Given the description of an element on the screen output the (x, y) to click on. 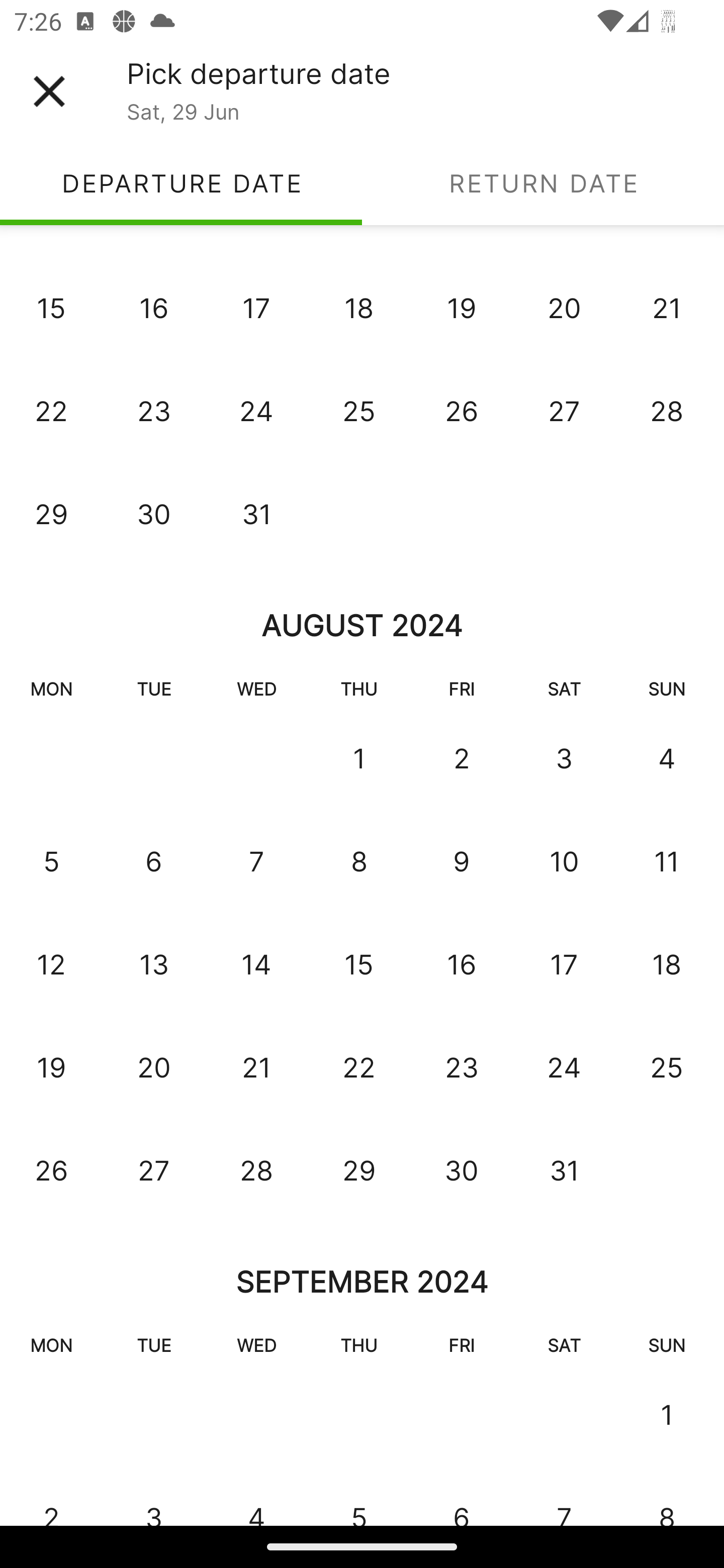
Return Date RETURN DATE (543, 183)
